Given the description of an element on the screen output the (x, y) to click on. 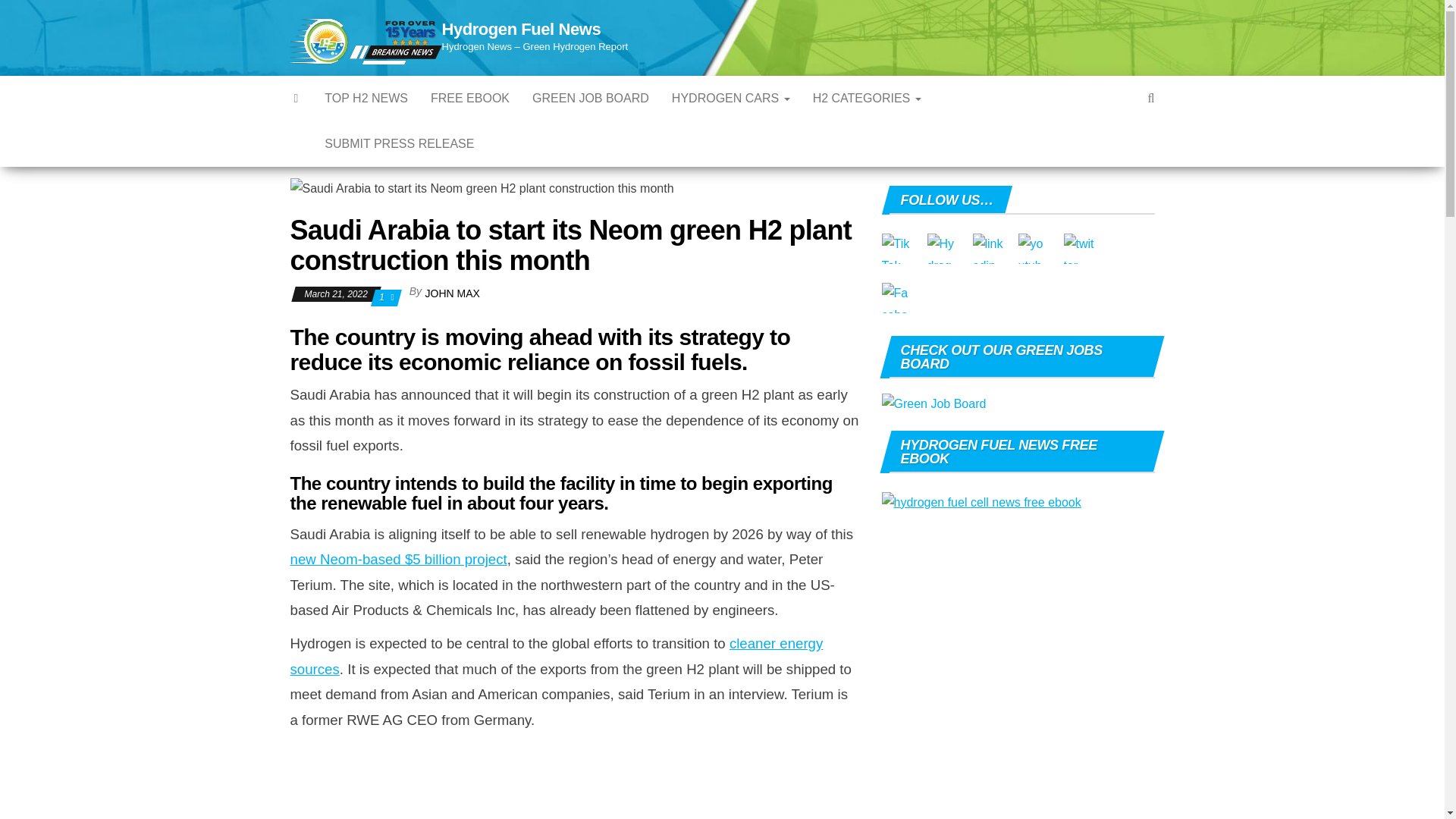
FREE EBOOK (470, 98)
Hydrogen Fuel News (520, 28)
HYDROGEN CARS (731, 98)
Hydrogen Cars (731, 98)
Top H2 News (366, 98)
GREEN JOB BOARD (591, 98)
Green Job Board (591, 98)
TOP H2 NEWS (366, 98)
Free ebook (470, 98)
H2 CATEGORIES (867, 98)
